Given the description of an element on the screen output the (x, y) to click on. 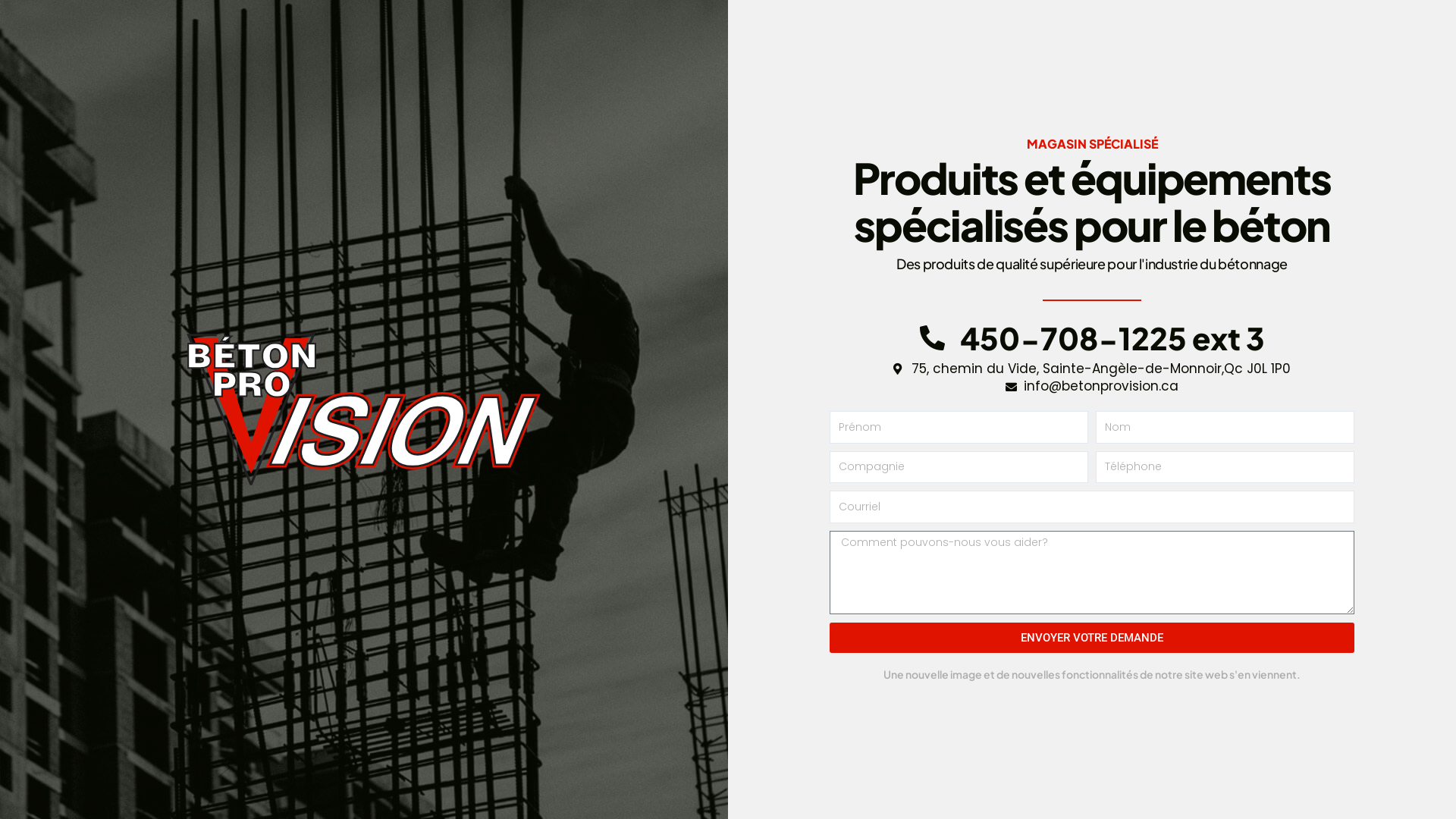
info@betonprovision.ca Element type: text (1091, 386)
ENVOYER VOTRE DEMANDE Element type: text (1091, 637)
